Given the description of an element on the screen output the (x, y) to click on. 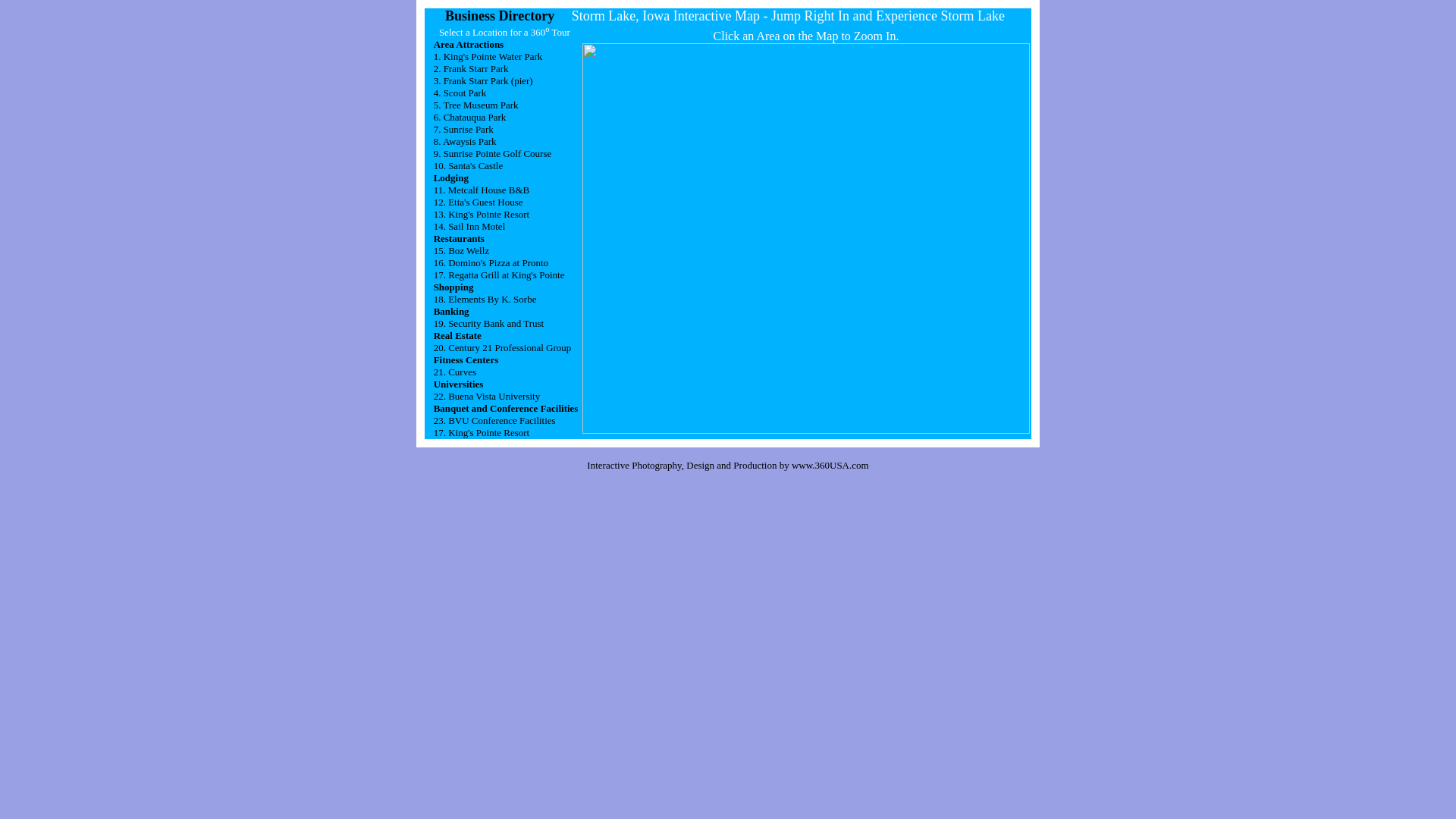
10. Santa's Castle Element type: text (468, 165)
1. King's Pointe Water Park Element type: text (487, 56)
4. Scout Park Element type: text (459, 92)
13. King's Pointe Resort Element type: text (481, 213)
3. Frank Starr Park (pier) Element type: text (483, 80)
18. Elements By K. Sorbe Element type: text (484, 298)
www.360USA.com Element type: text (830, 464)
8. Awaysis Park Element type: text (464, 141)
2. Frank Starr Park Element type: text (470, 68)
23. BVU Conference Facilities Element type: text (494, 420)
5. Tree Museum Park Element type: text (475, 104)
14. Sail Inn Motel Element type: text (469, 226)
22. Buena Vista University Element type: text (486, 395)
9. Sunrise Pointe Golf Course Element type: text (492, 153)
Metcalf House B&B Element type: text (489, 189)
15. Boz Wellz Element type: text (461, 250)
16. Domino's Pizza at Pronto Element type: text (490, 262)
20. Century 21 Professional Group Element type: text (502, 347)
17. King's Pointe Resort Element type: text (481, 432)
12. Etta's Guest House Element type: text (478, 201)
17. Regatta Grill at King's Pointe Element type: text (498, 274)
19. Security Bank and Trust Element type: text (488, 323)
6. Chatauqua Park Element type: text (469, 116)
7. Sunrise Park Element type: text (463, 128)
21. Curves Element type: text (454, 371)
